Given the description of an element on the screen output the (x, y) to click on. 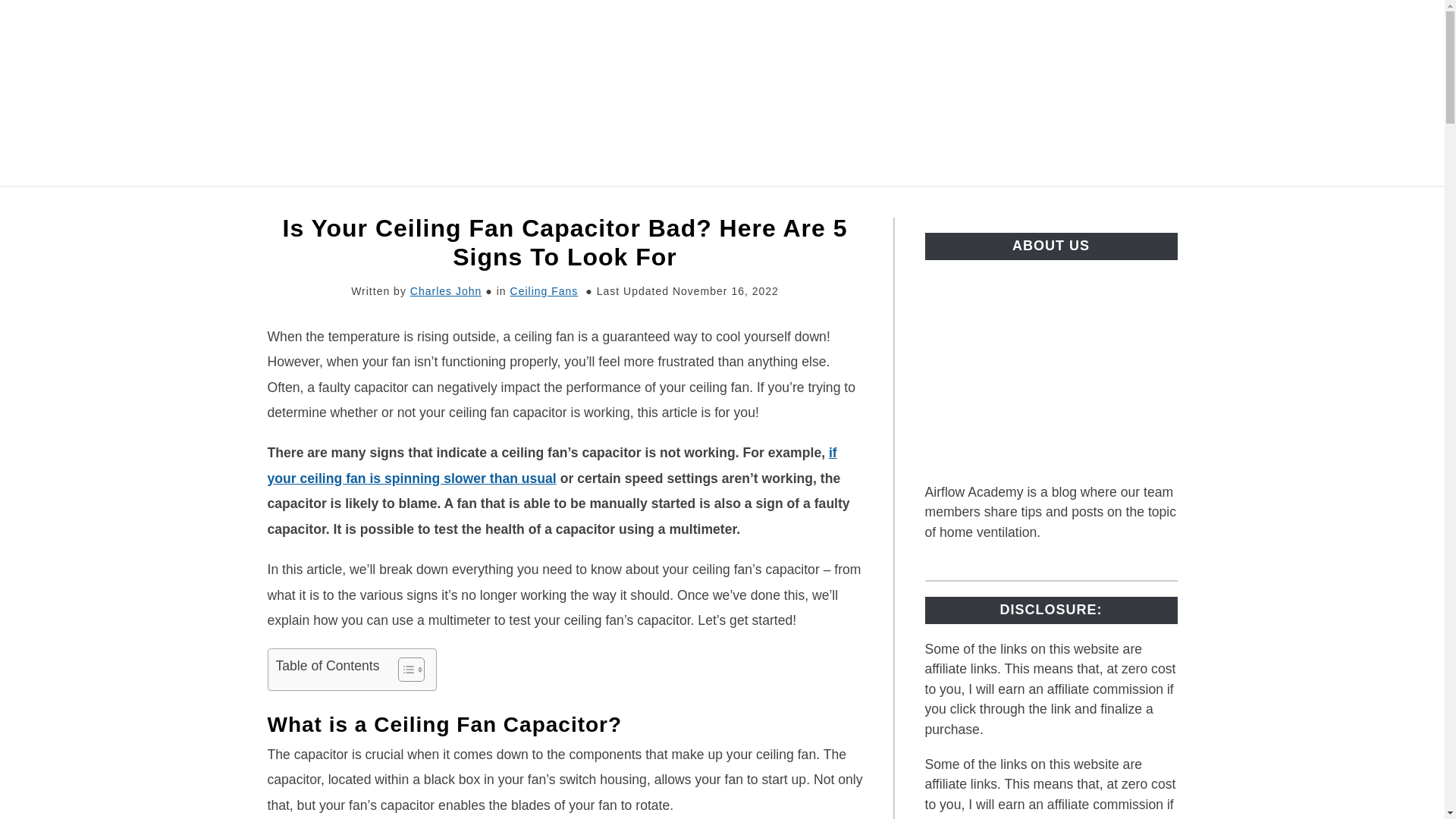
INSULATION (708, 203)
Ceiling Fans (544, 291)
if your ceiling fan is spinning slower than usual (550, 465)
RANGE HOODS (833, 203)
Search (1203, 92)
INDOOR VENTILATION (561, 203)
Charles John (445, 291)
ATTIC VENTILATION (387, 203)
